Given the description of an element on the screen output the (x, y) to click on. 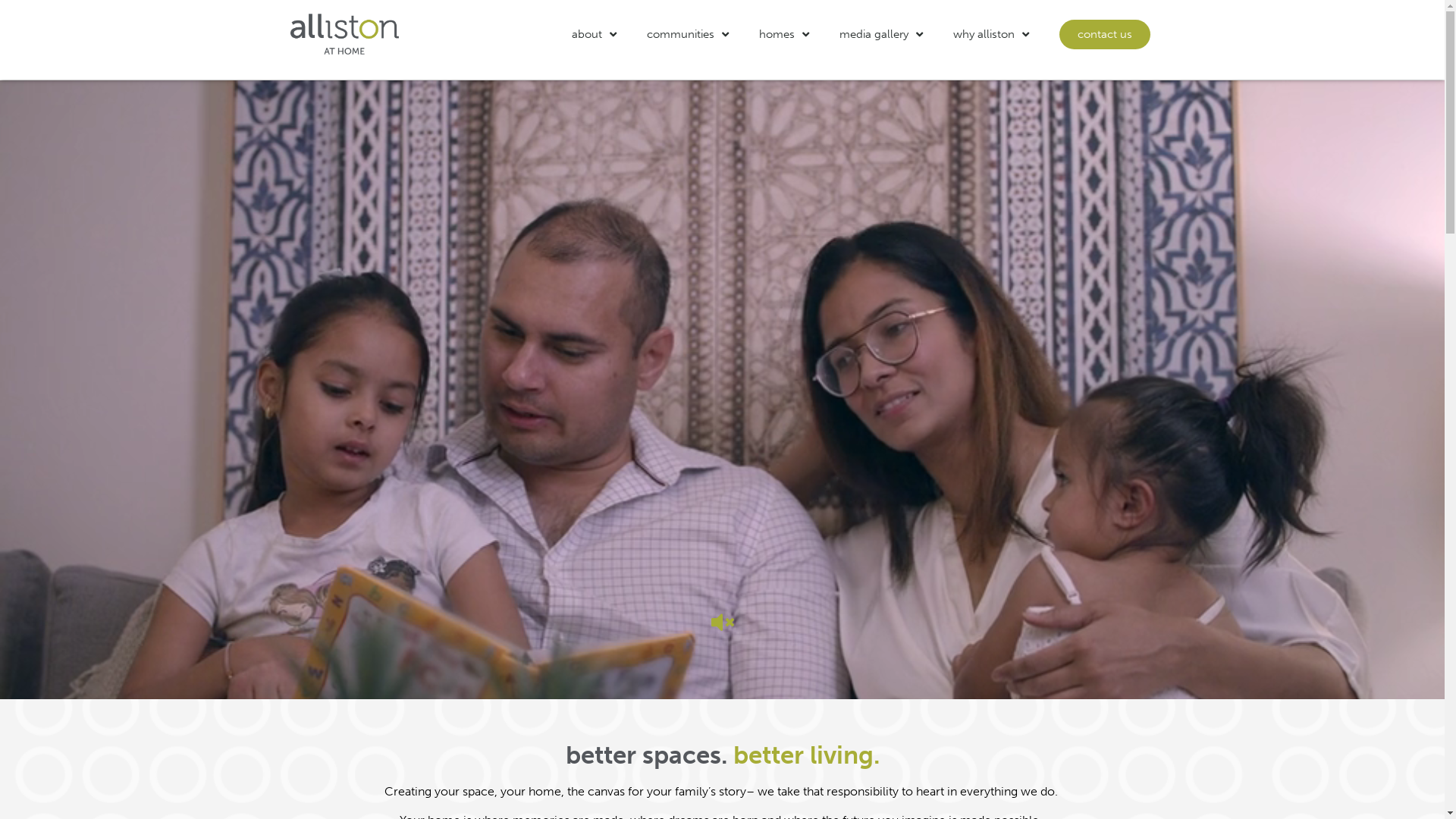
homes Element type: text (783, 34)
why alliston Element type: text (991, 34)
communities Element type: text (687, 34)
contact us Element type: text (1104, 34)
about Element type: text (593, 34)
media gallery Element type: text (881, 34)
